Given the description of an element on the screen output the (x, y) to click on. 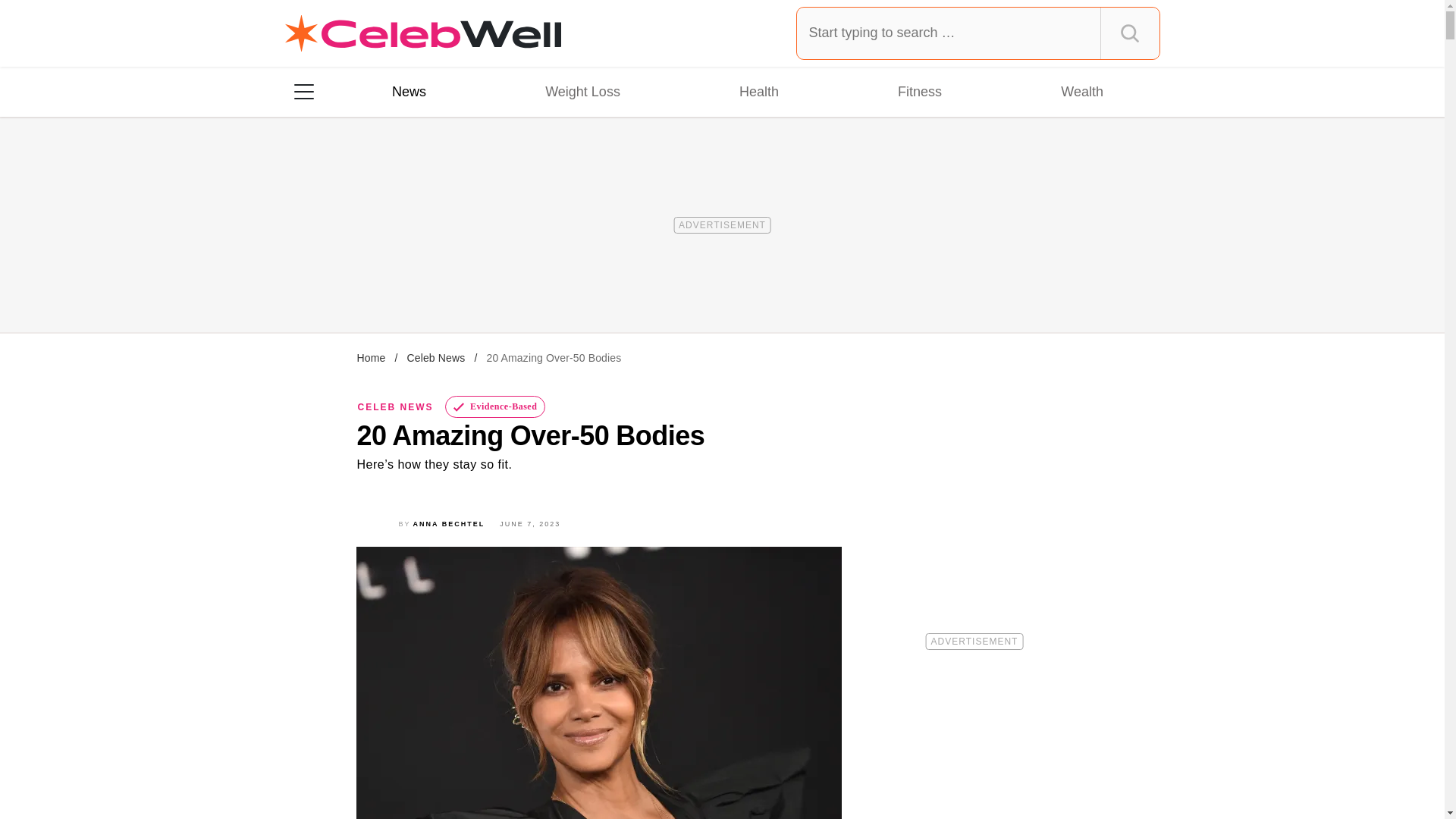
Wealth (1081, 91)
Posts by Anna Bechtel (448, 523)
Evidence-Based (495, 406)
Weight Loss (582, 91)
Celebwell Homepage (422, 33)
CELEB NEWS (395, 407)
Home (370, 357)
ANNA BECHTEL (448, 523)
News (408, 91)
Celeb News (435, 357)
Type and press Enter to search (978, 32)
Health (758, 91)
Fitness (919, 91)
